Given the description of an element on the screen output the (x, y) to click on. 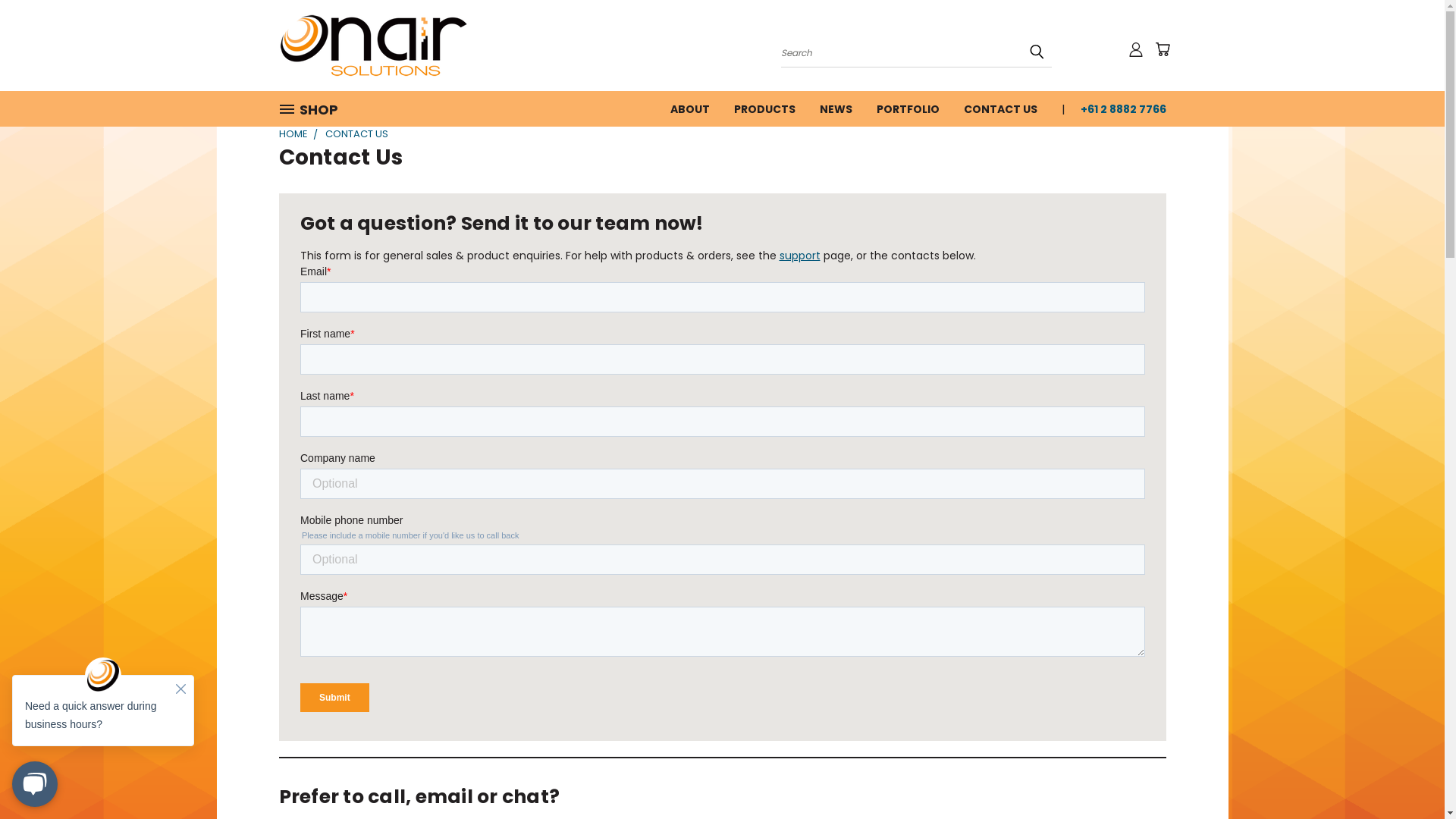
SHOP Element type: text (314, 109)
submit Element type: hover (1036, 51)
Form 0 Element type: hover (722, 493)
support Element type: text (799, 255)
CONTACT US Element type: text (999, 108)
ABOUT Element type: text (689, 108)
PRODUCTS Element type: text (764, 108)
OnAir Solutions Element type: hover (373, 45)
PORTFOLIO Element type: text (907, 108)
HOME Element type: text (293, 133)
+61 2 8882 7766 Element type: text (1116, 108)
NEWS Element type: text (834, 108)
